Given the description of an element on the screen output the (x, y) to click on. 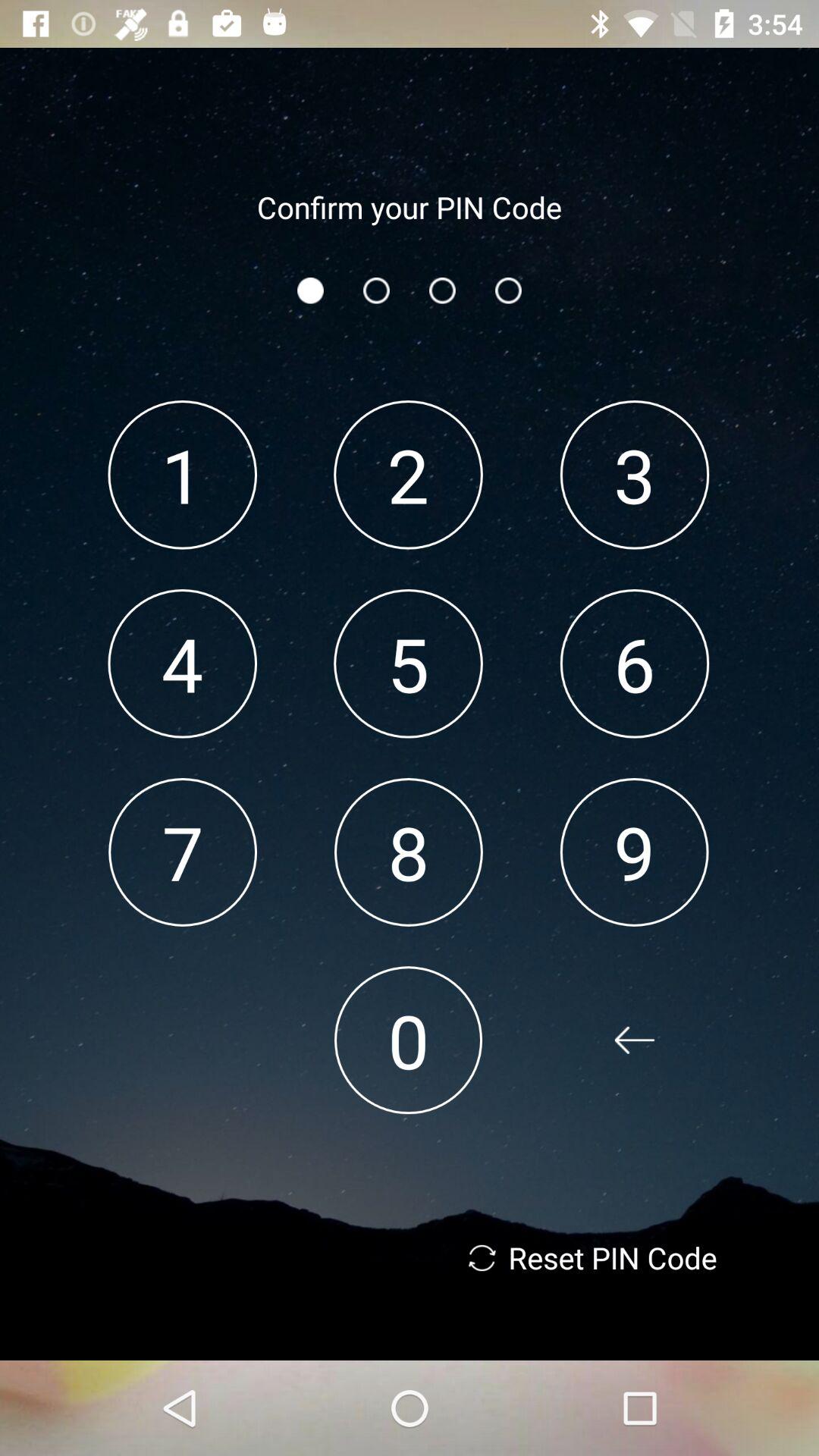
choose 2 item (407, 474)
